Given the description of an element on the screen output the (x, y) to click on. 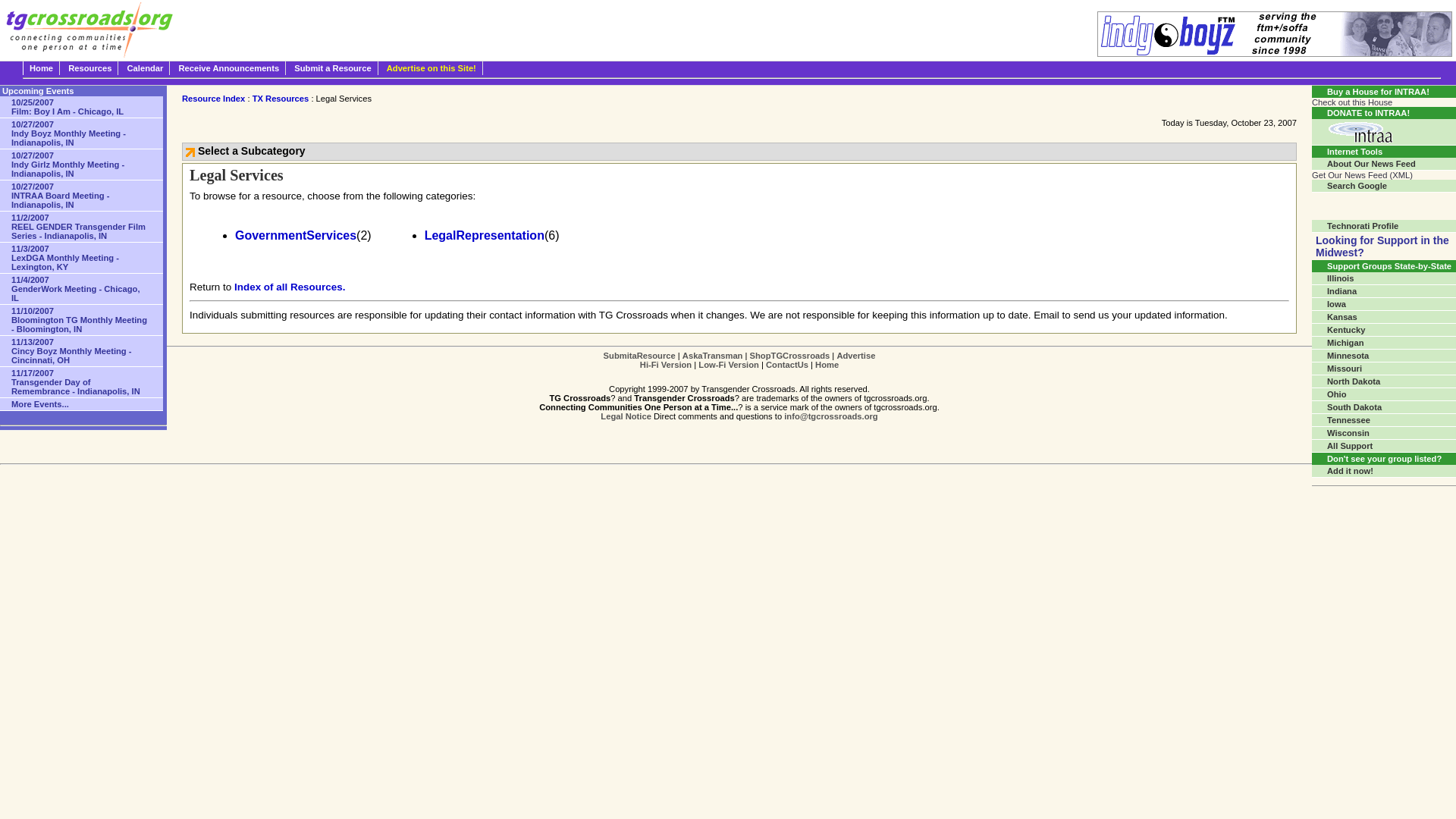
Contact Us (786, 364)
TX Resources (279, 98)
Home (41, 68)
TG Crossroads Home (41, 68)
Submit a Resource (332, 68)
Add your resource to this site (332, 68)
Apply Stylesheet (665, 364)
Read Copyright Info (624, 415)
Browse The Resource Lists (89, 68)
Check Out Upcoming Events (145, 68)
GovernmentServices (295, 235)
Advertise on TG Crossroads! (855, 355)
Advertise on this Site! (431, 68)
Calendar (145, 68)
Resources (89, 68)
